Given the description of an element on the screen output the (x, y) to click on. 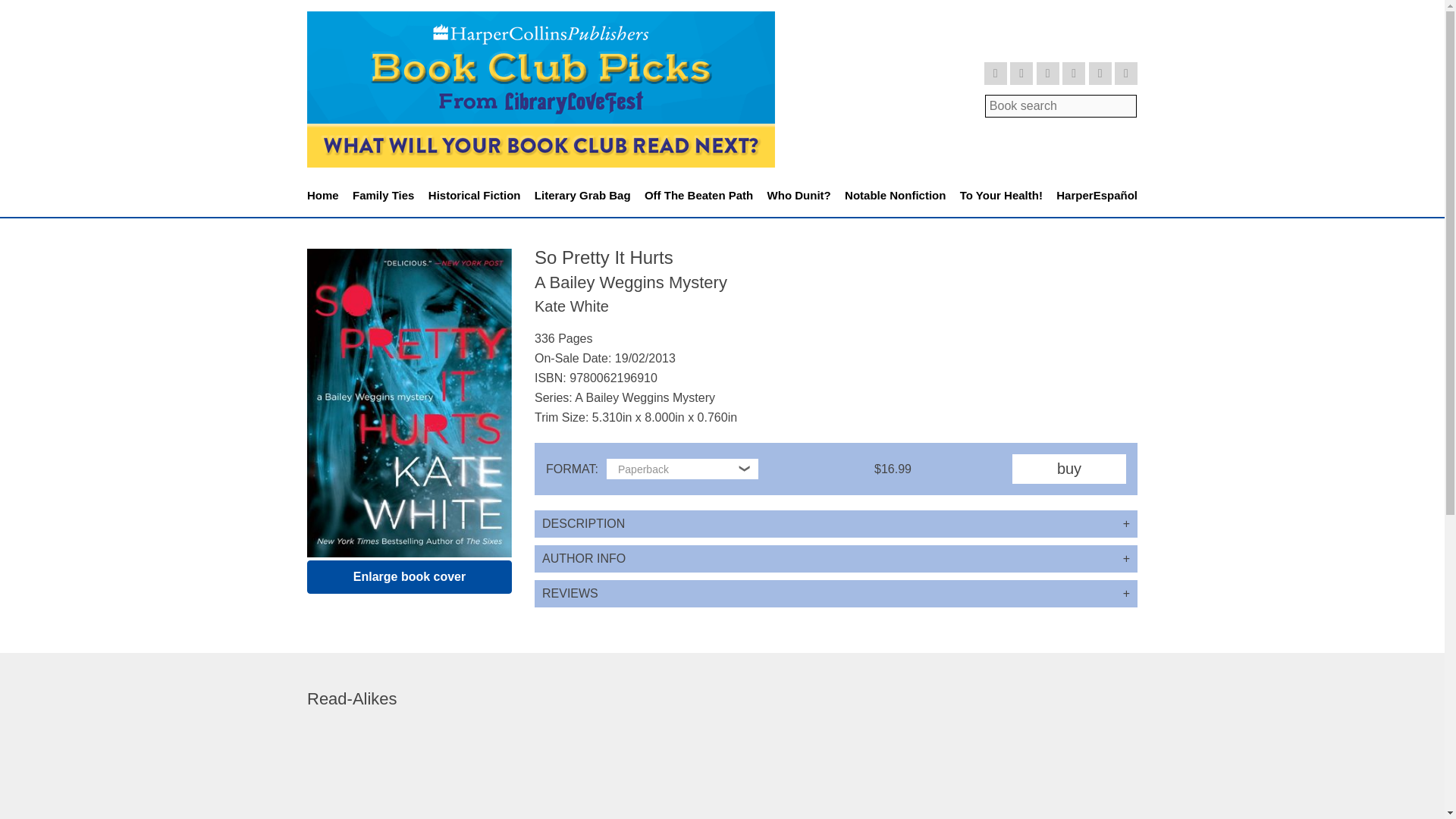
Home (323, 195)
Follow us on SoundCloud (1100, 73)
Enlarge book cover (409, 576)
buy (1068, 469)
Notable Nonfiction (894, 195)
Off The Beaten Path (698, 195)
Who Dunit? (799, 195)
Historical Fiction (474, 195)
Book search: (1061, 105)
Follow us on Facebook (1021, 73)
